Given the description of an element on the screen output the (x, y) to click on. 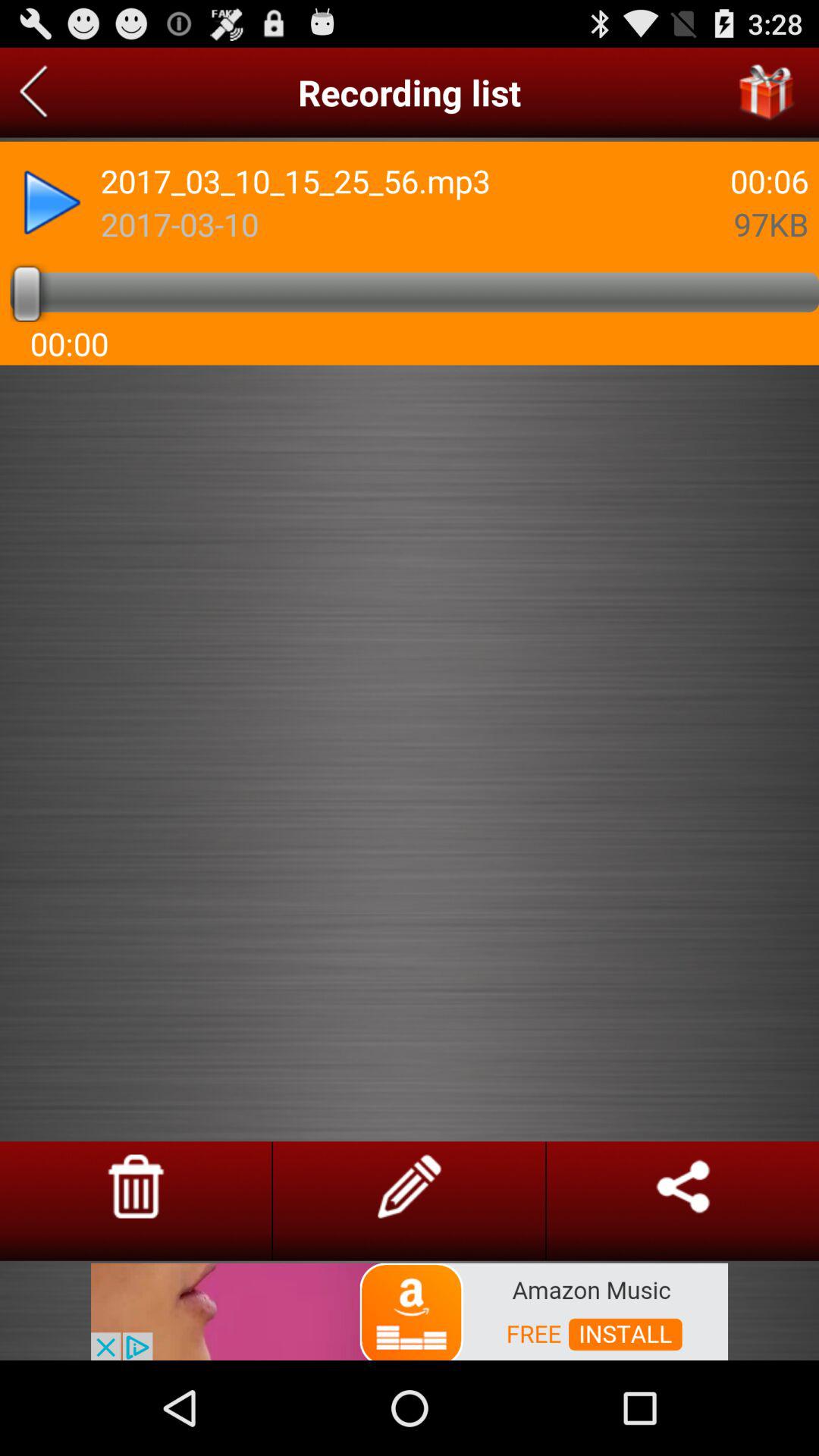
for recording (33, 92)
